Given the description of an element on the screen output the (x, y) to click on. 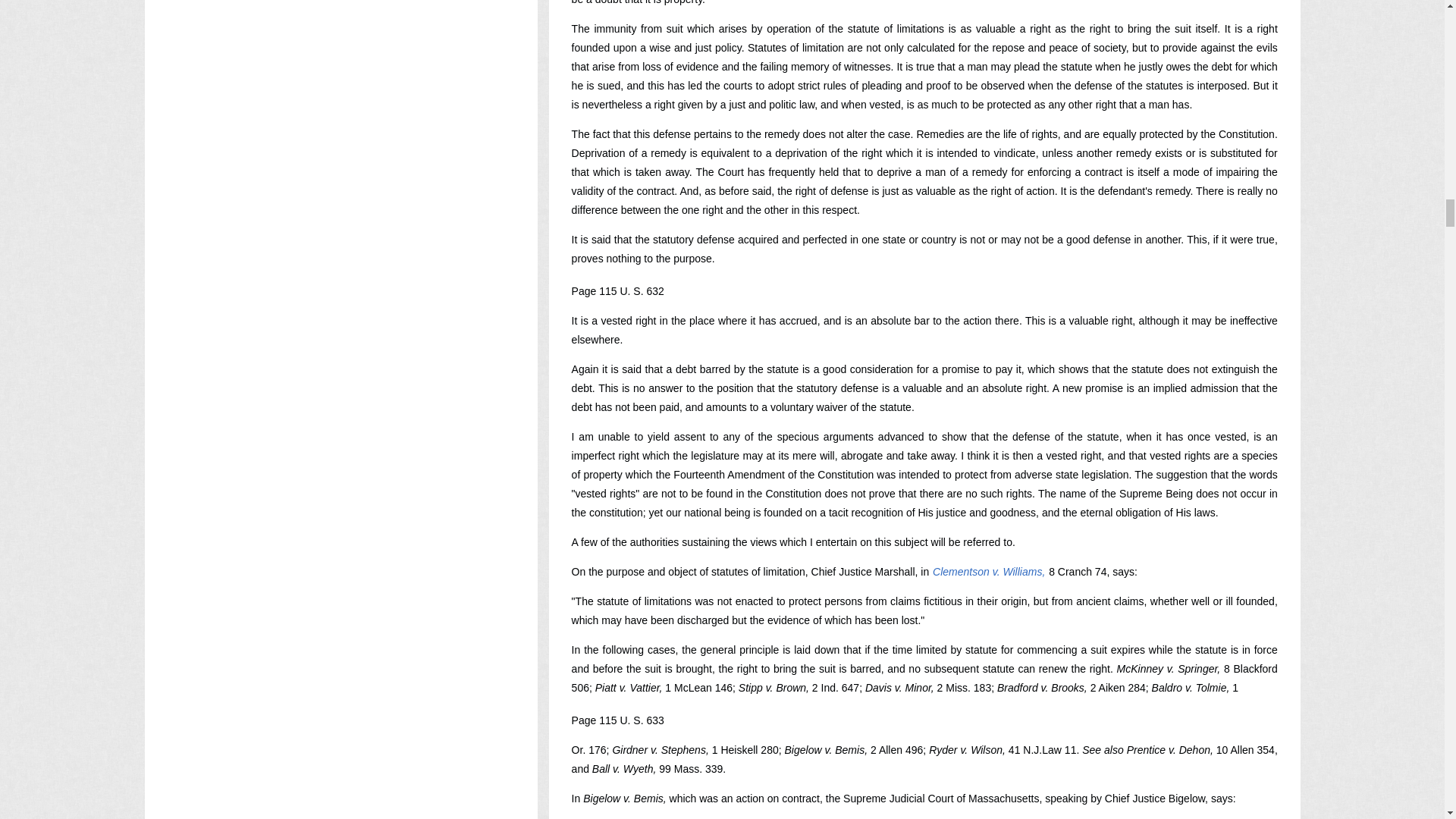
Clementson v. Williams, (988, 571)
Page 115 U. S. 633 (617, 720)
Page 115 U. S. 632 (617, 291)
